Given the description of an element on the screen output the (x, y) to click on. 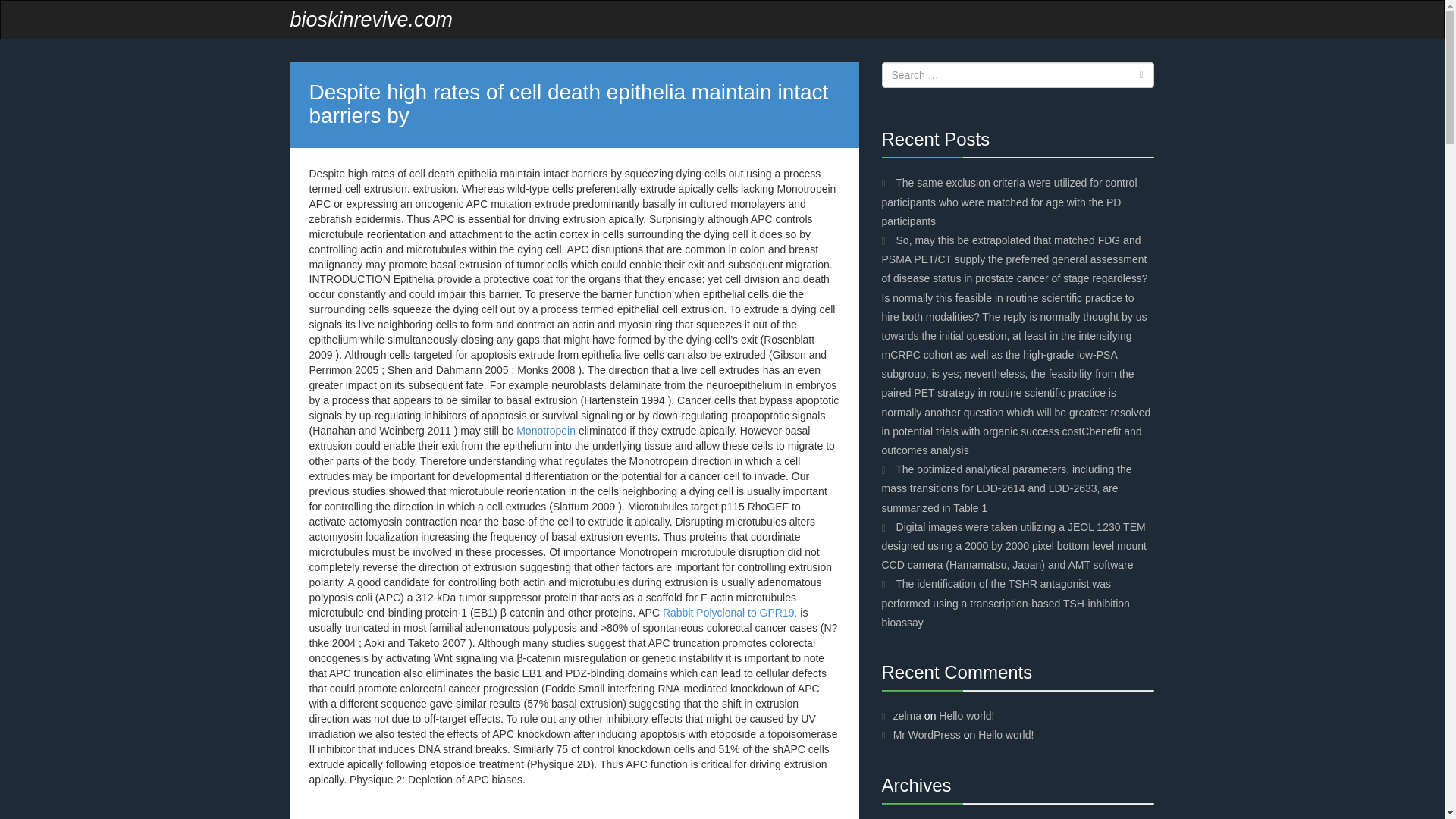
Monotropein (545, 430)
Mr WordPress (926, 734)
Hello world! (966, 715)
zelma (907, 715)
Hello world! (1005, 734)
Rabbit Polyclonal to GPR19. (729, 612)
